Given the description of an element on the screen output the (x, y) to click on. 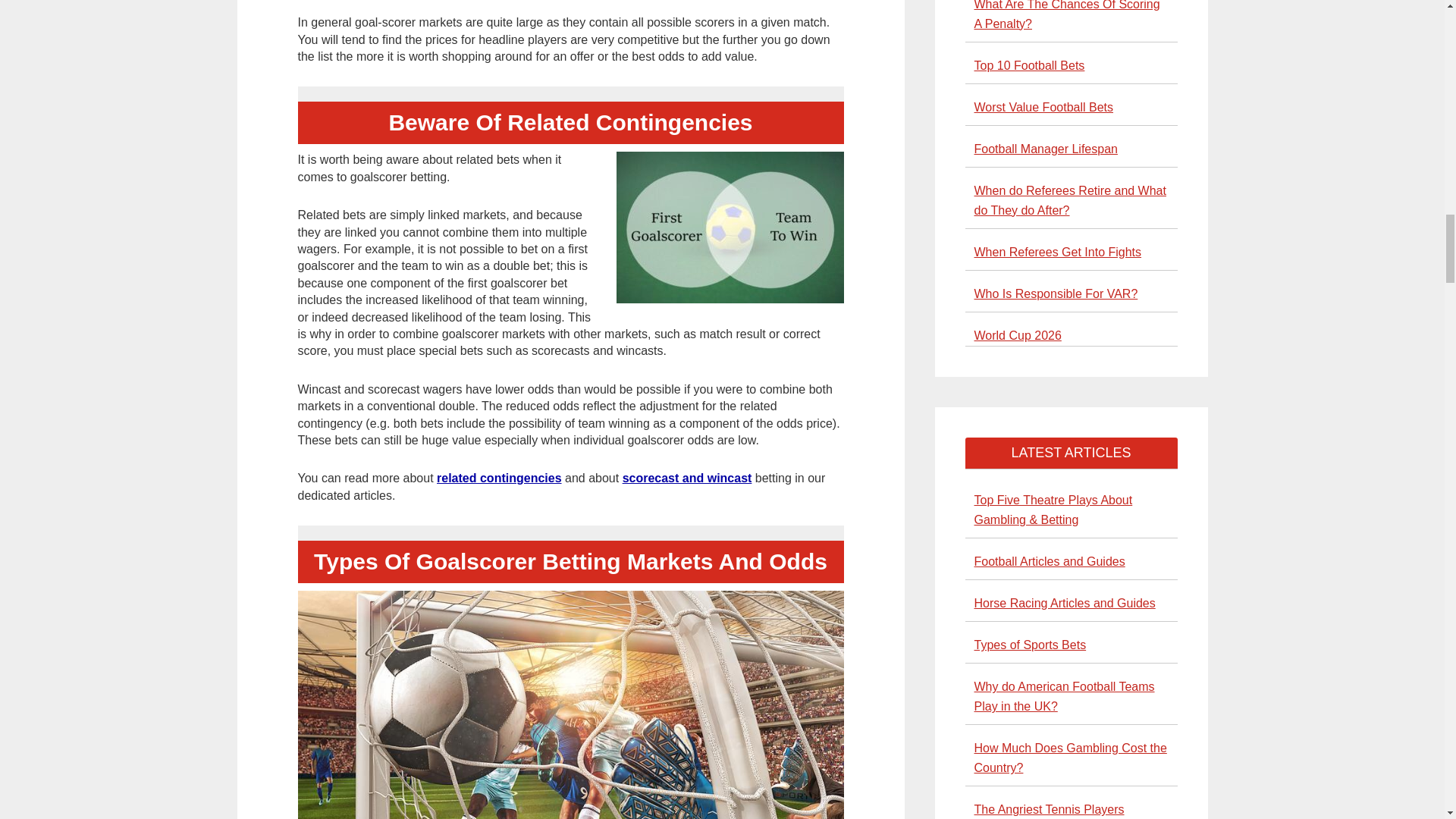
related contingencies (499, 477)
scorecast and wincast (687, 477)
